Given the description of an element on the screen output the (x, y) to click on. 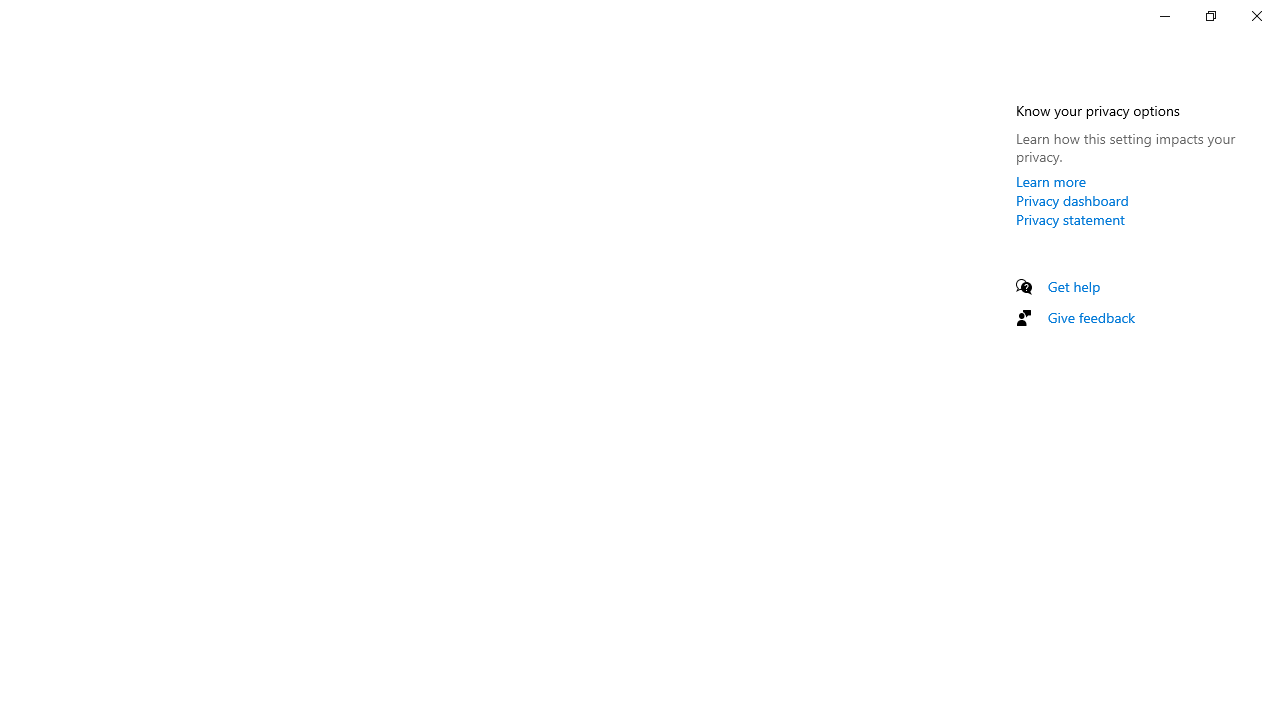
Get help (1074, 286)
Give feedback (1091, 317)
Privacy dashboard (1072, 200)
Learn more (1051, 181)
Privacy statement (1070, 219)
